Given the description of an element on the screen output the (x, y) to click on. 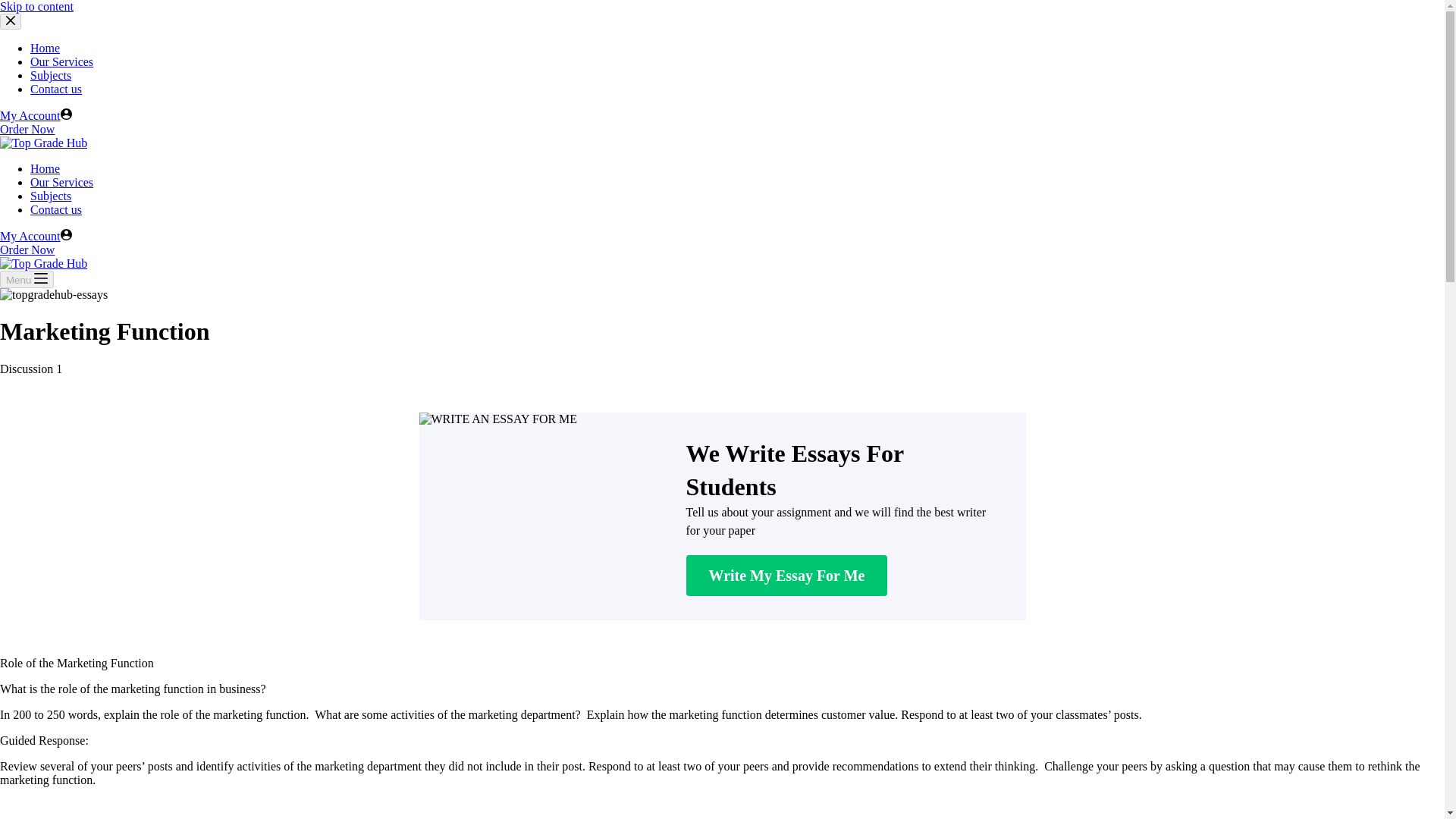
Home (44, 47)
Contact us (55, 209)
Subjects (50, 74)
Menu (26, 279)
My Account (35, 115)
Order Now (27, 128)
Our Services (61, 61)
Home (44, 168)
Write My Essay For Me (785, 575)
Our Services (61, 182)
Skip to content (37, 6)
Contact us (55, 88)
Order Now (27, 249)
Subjects (50, 195)
My Account (35, 236)
